Given the description of an element on the screen output the (x, y) to click on. 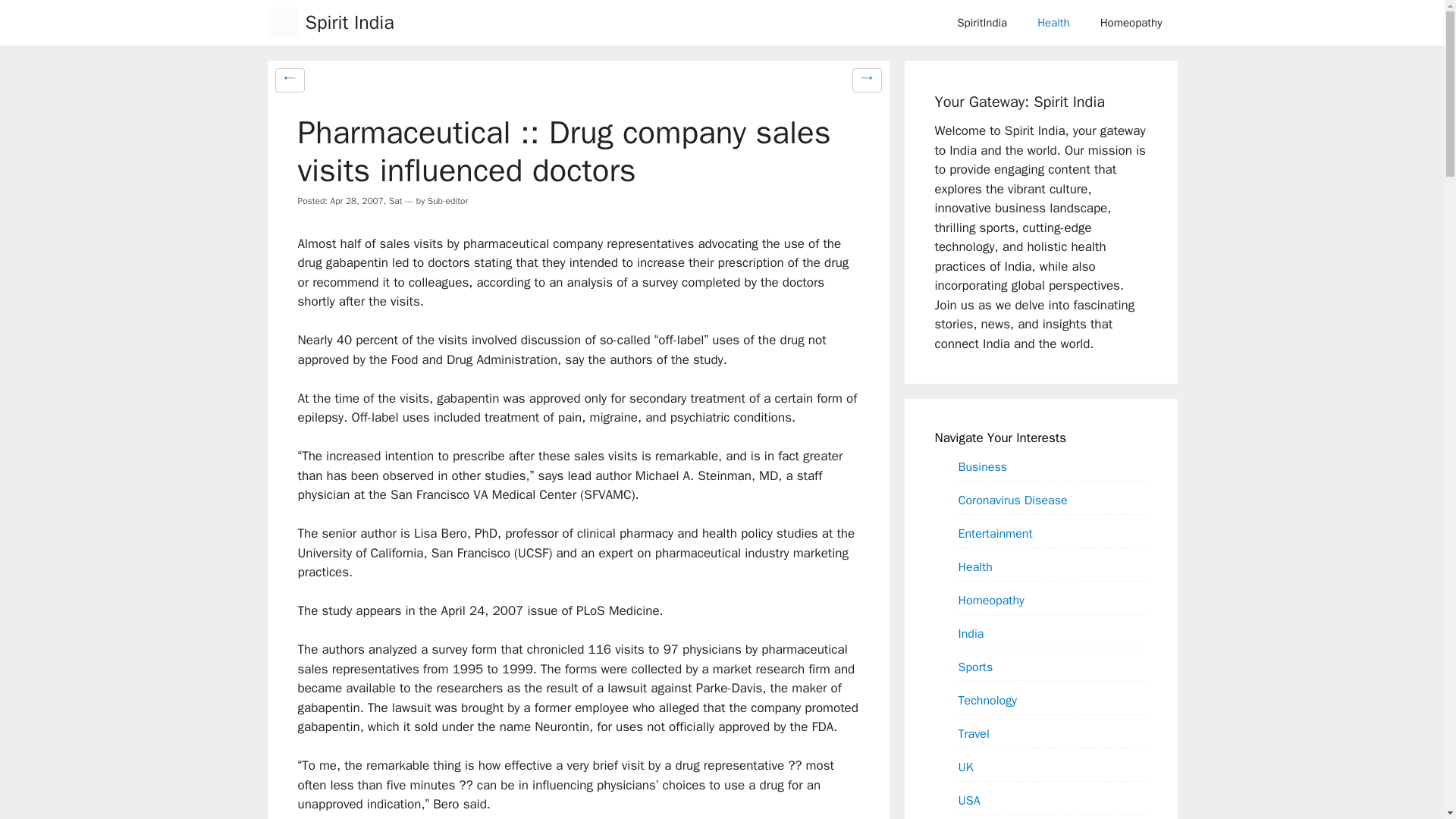
Homeopathy (1130, 22)
Spirit India (348, 22)
SpiritIndia (982, 22)
Health (1053, 22)
